Given the description of an element on the screen output the (x, y) to click on. 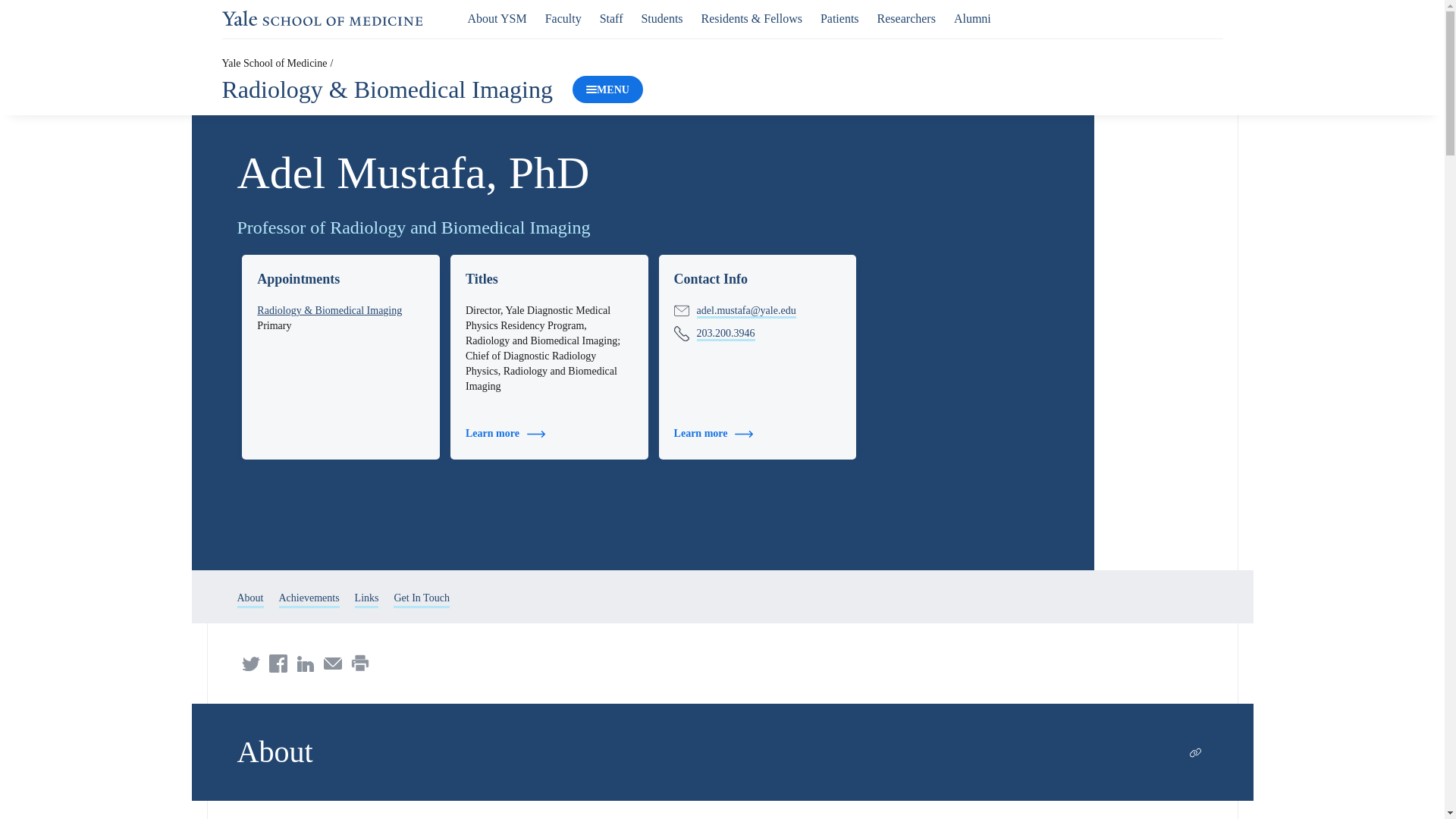
Alumni (972, 18)
About YSM (497, 18)
Yale School of Medicine (321, 18)
Yale School of Medicine (321, 17)
Yale School of Medicine (273, 62)
Students (661, 18)
Staff (611, 18)
Faculty (562, 18)
MENU (607, 89)
Patients (840, 18)
Researchers (906, 18)
